Given the description of an element on the screen output the (x, y) to click on. 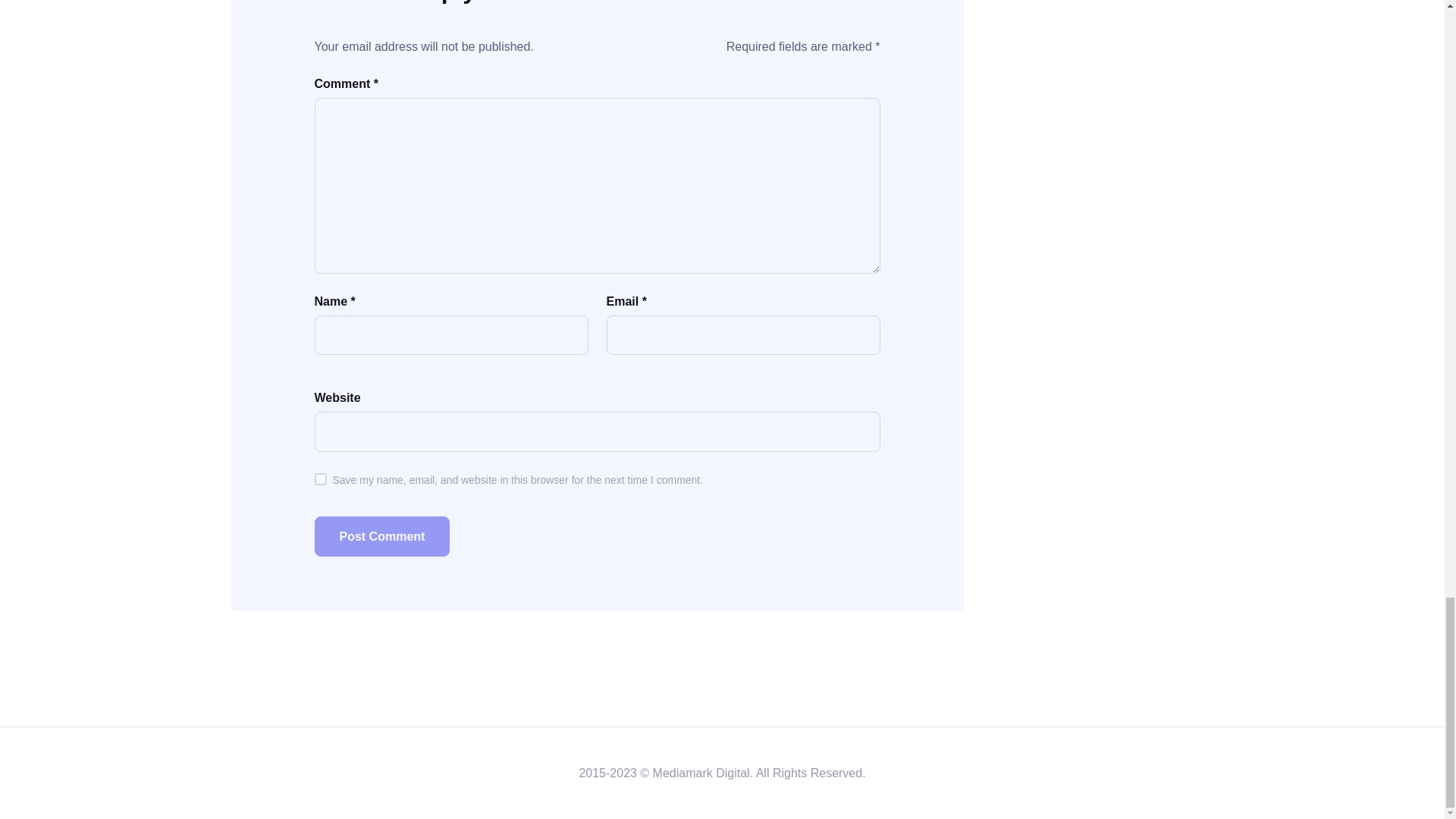
yes (320, 479)
Post Comment (381, 536)
Post Comment (381, 536)
